Given the description of an element on the screen output the (x, y) to click on. 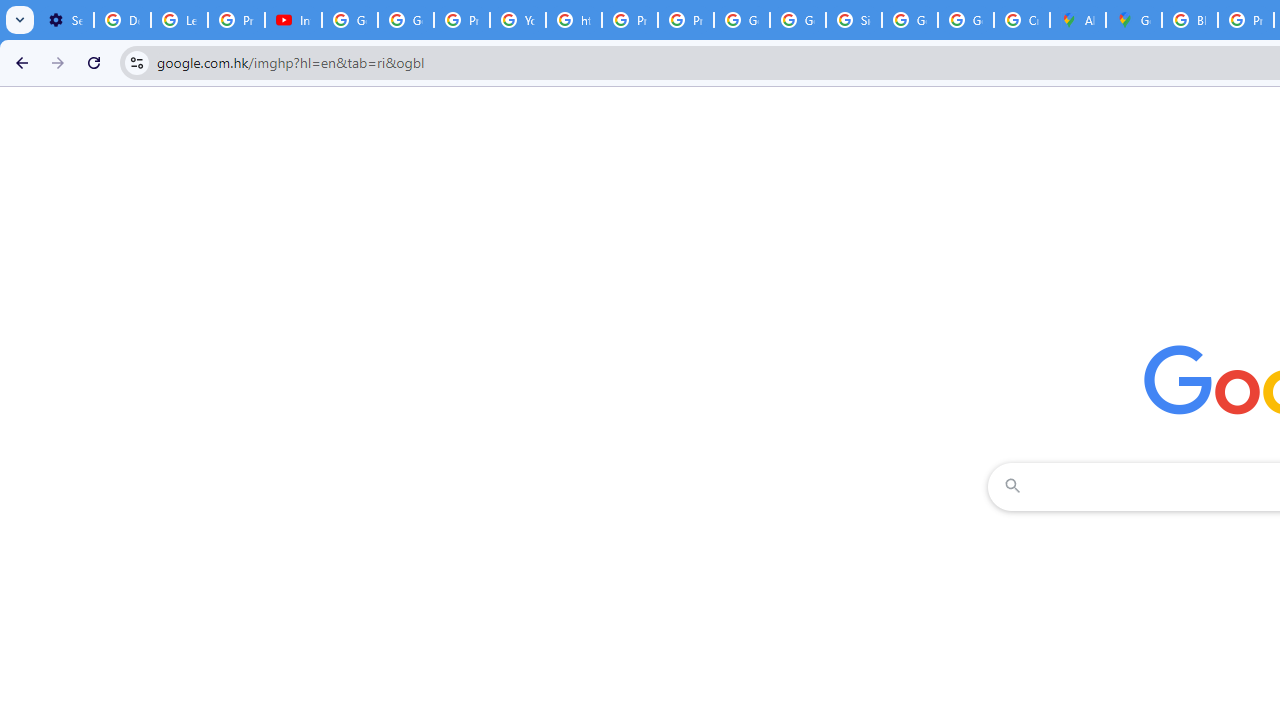
Privacy Help Center - Policies Help (629, 20)
Google Maps (1133, 20)
Delete photos & videos - Computer - Google Photos Help (122, 20)
Introduction | Google Privacy Policy - YouTube (293, 20)
YouTube (518, 20)
Learn how to find your photos - Google Photos Help (179, 20)
